Given the description of an element on the screen output the (x, y) to click on. 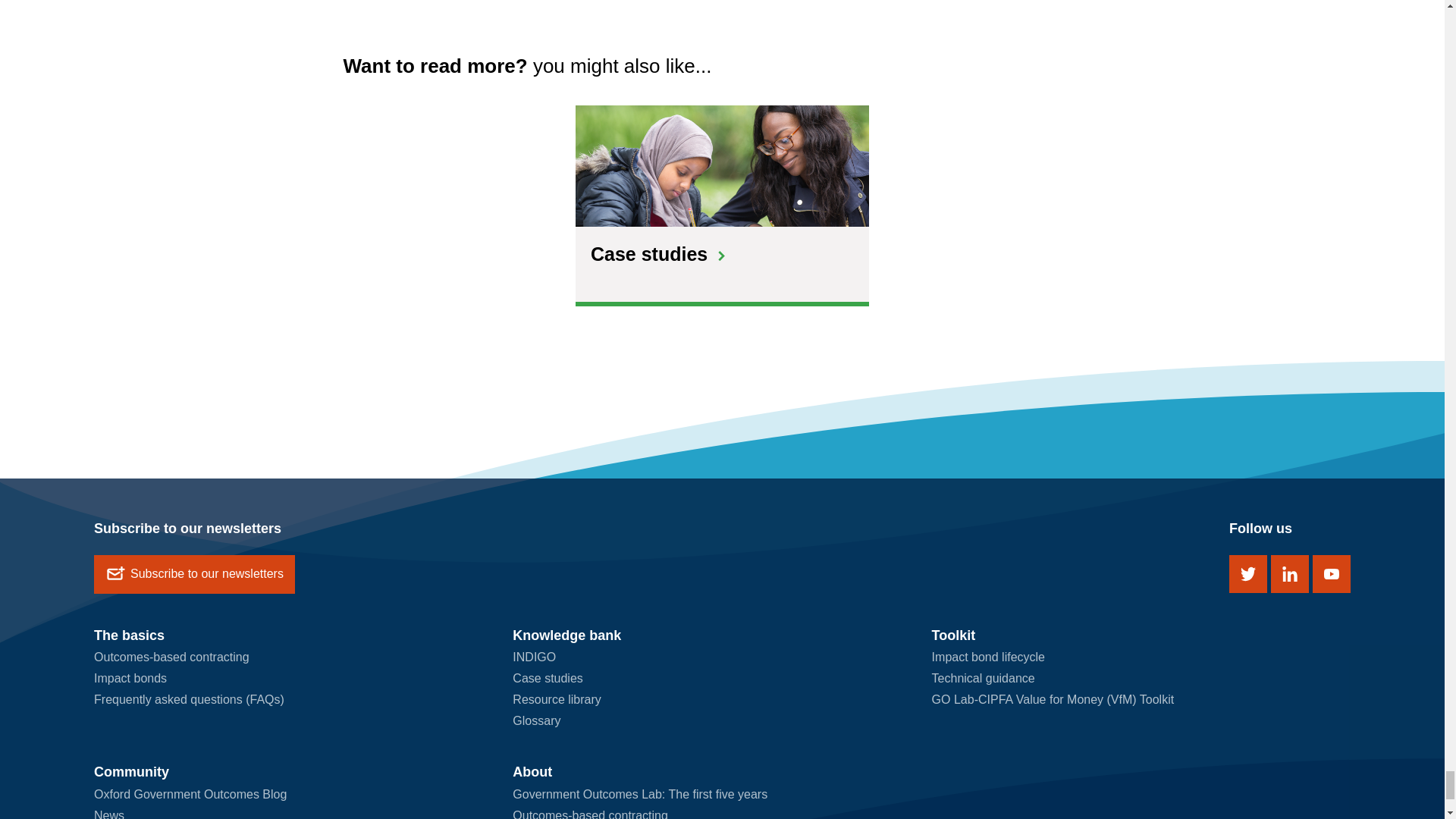
Follow us on LinkedIn (1289, 573)
Follow us on Twitter (1247, 573)
Follow us on YouTube (1332, 573)
